Given the description of an element on the screen output the (x, y) to click on. 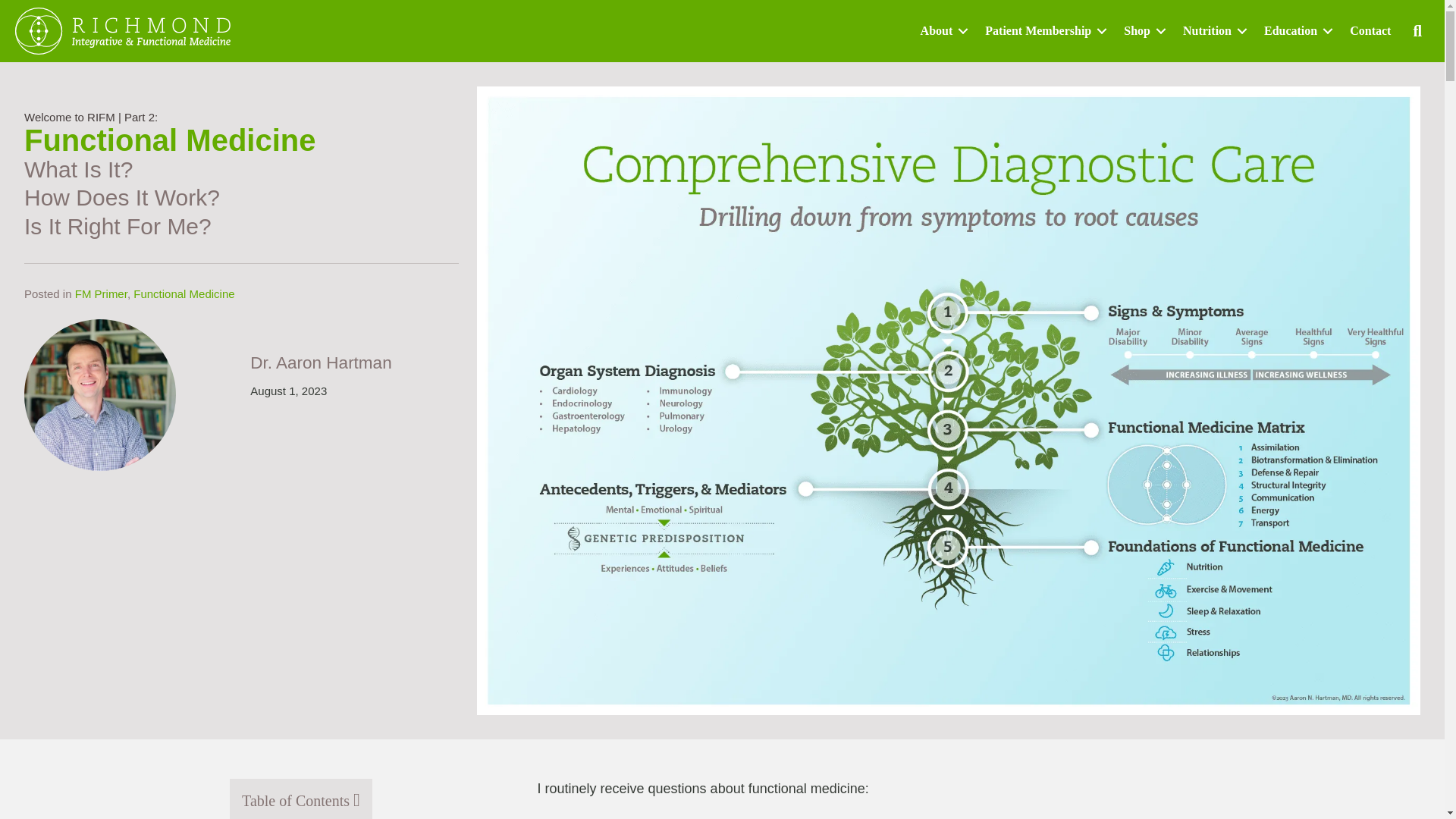
rva-integrative-logo-horizontal (122, 30)
Search (1420, 30)
Education (1295, 30)
Contact (1369, 30)
About (942, 30)
Shop (1142, 30)
FM Primer (101, 293)
Functional Medicine (183, 293)
Nutrition (1212, 30)
Patient Membership (1043, 30)
